Given the description of an element on the screen output the (x, y) to click on. 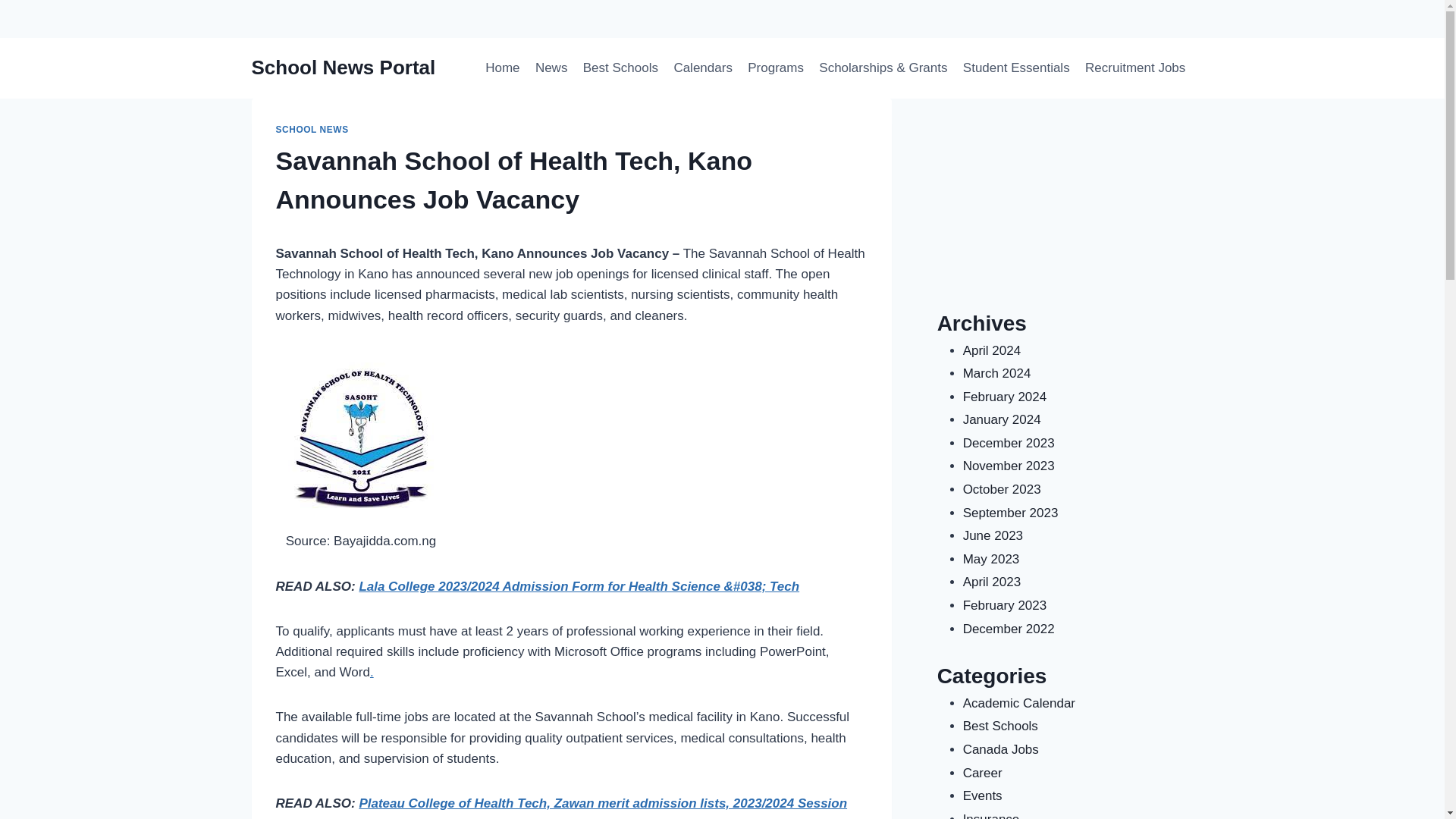
School News Portal (343, 67)
SCHOOL NEWS (312, 129)
Programs (774, 67)
Recruitment Jobs (1135, 67)
Student Essentials (1016, 67)
News (551, 67)
School News Portal (743, 315)
Calendars (702, 67)
Savannah School of Health Tech (592, 758)
Best Schools (620, 67)
